Given the description of an element on the screen output the (x, y) to click on. 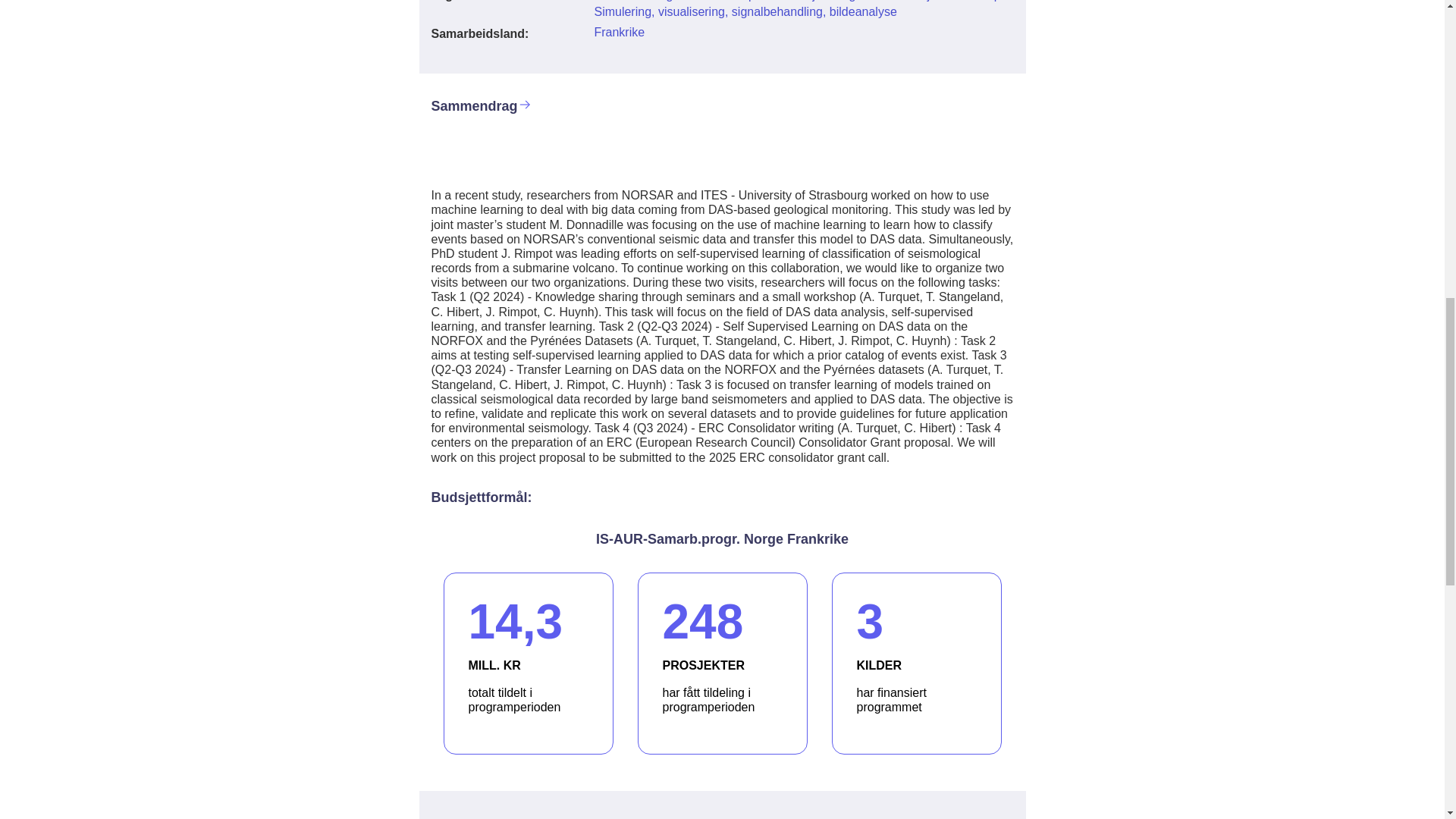
Simulering, visualisering, signalbehandling, bildeanalyse (527, 663)
Frankrike (745, 11)
Matematikk og naturvitenskap (619, 31)
Informasjons- og kommunikasjonsvitenskap (916, 663)
